Given the description of an element on the screen output the (x, y) to click on. 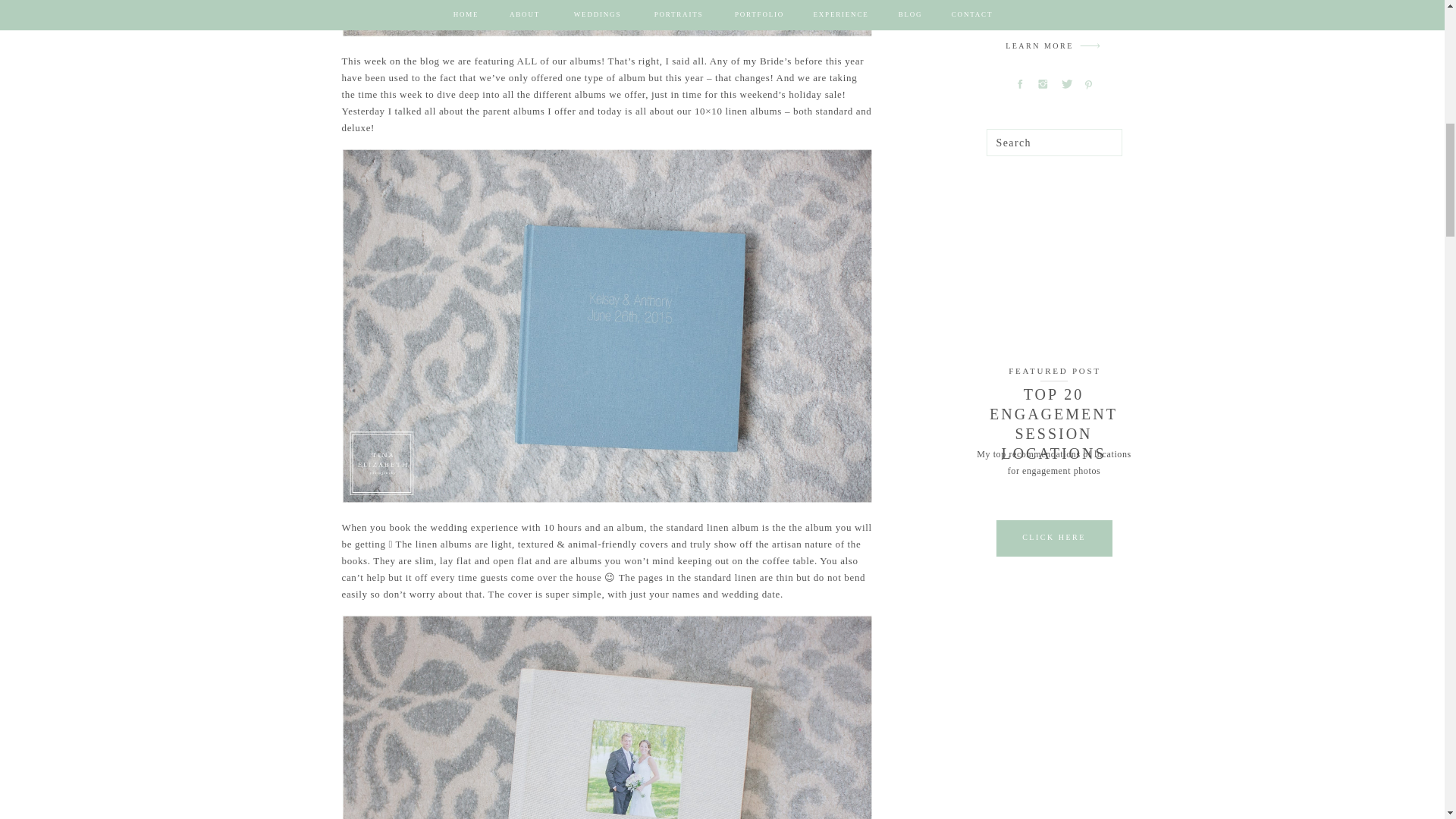
arrow (1089, 45)
arrow (1089, 45)
CLICK HERE (1053, 537)
